Given the description of an element on the screen output the (x, y) to click on. 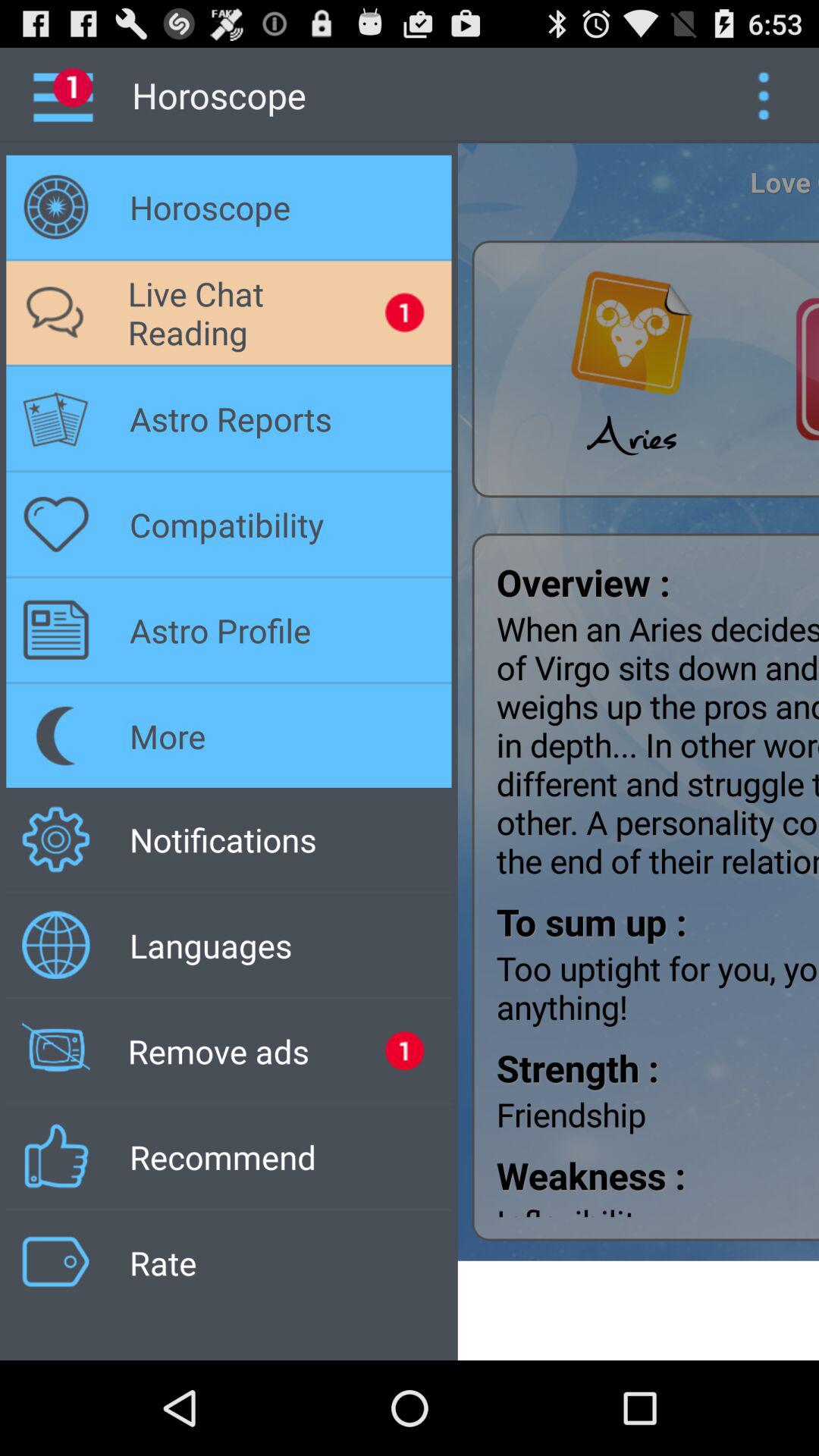
turn off the app next to rate icon (638, 1310)
